Given the description of an element on the screen output the (x, y) to click on. 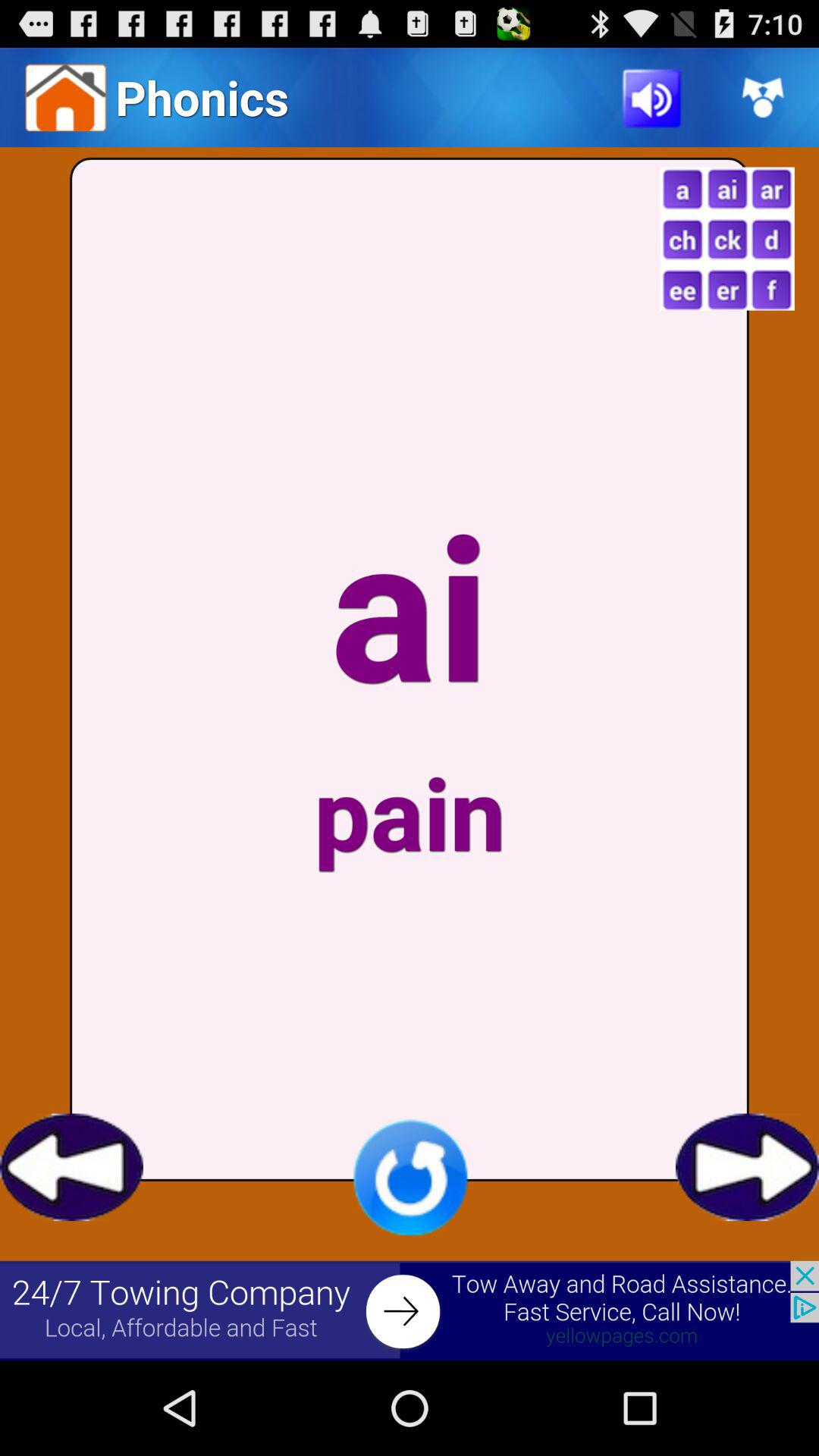
go to previous (71, 1167)
